Given the description of an element on the screen output the (x, y) to click on. 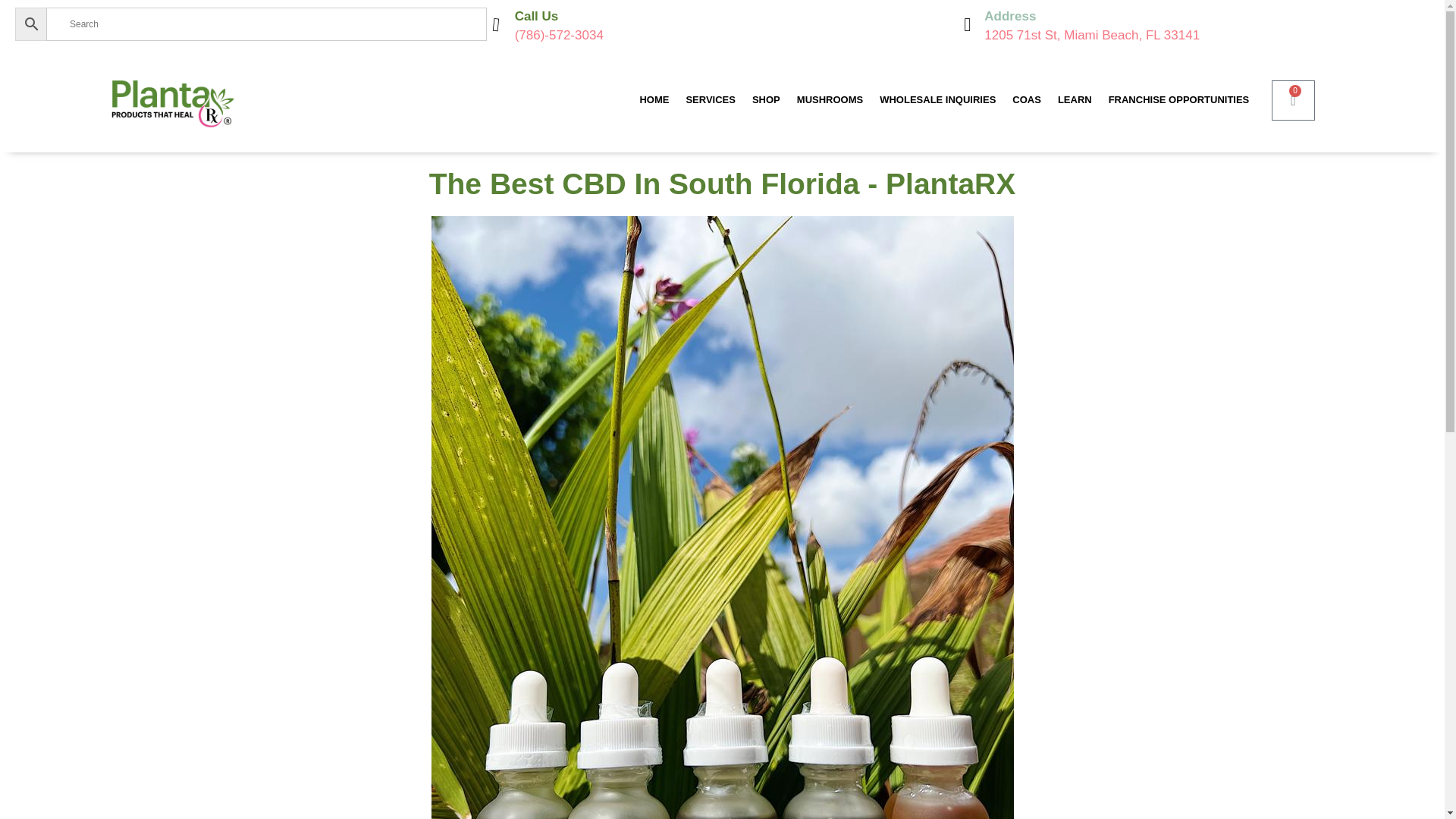
1205 71st St, Miami Beach, FL 33141 (1091, 34)
WHOLESALE INQUIRIES (937, 99)
SERVICES (710, 99)
LEARN (1075, 99)
MUSHROOMS (829, 99)
FRANCHISE OPPORTUNITIES (1178, 99)
Address (1009, 16)
